Given the description of an element on the screen output the (x, y) to click on. 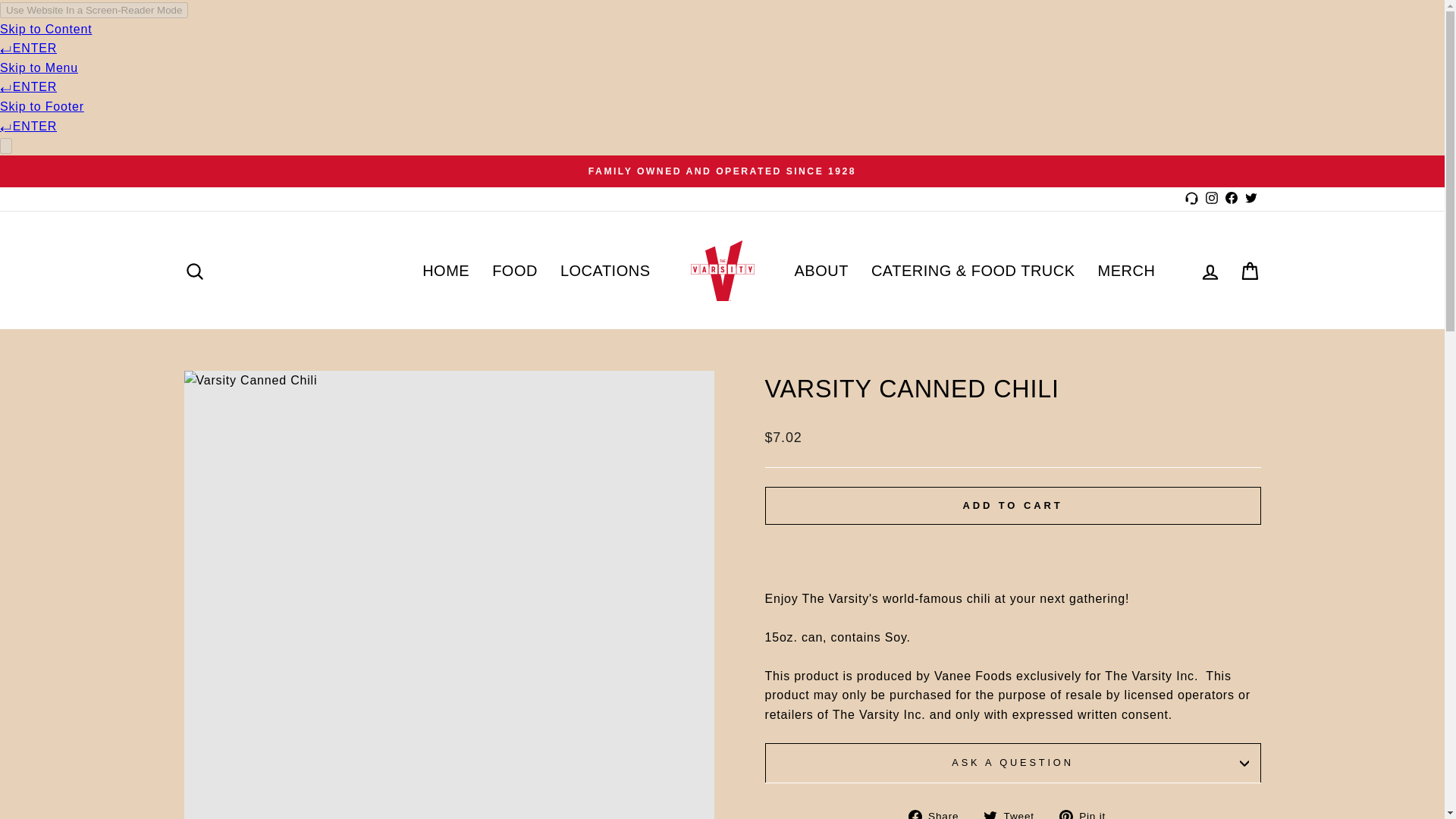
The Varsity on Instagram (1211, 198)
Tweet on Twitter (1014, 812)
The Varsity on Facebook (1230, 198)
Share on Facebook (939, 812)
Pin on Pinterest (1087, 812)
Contact Us (1193, 198)
The Varsity on Twitter (1250, 198)
